Given the description of an element on the screen output the (x, y) to click on. 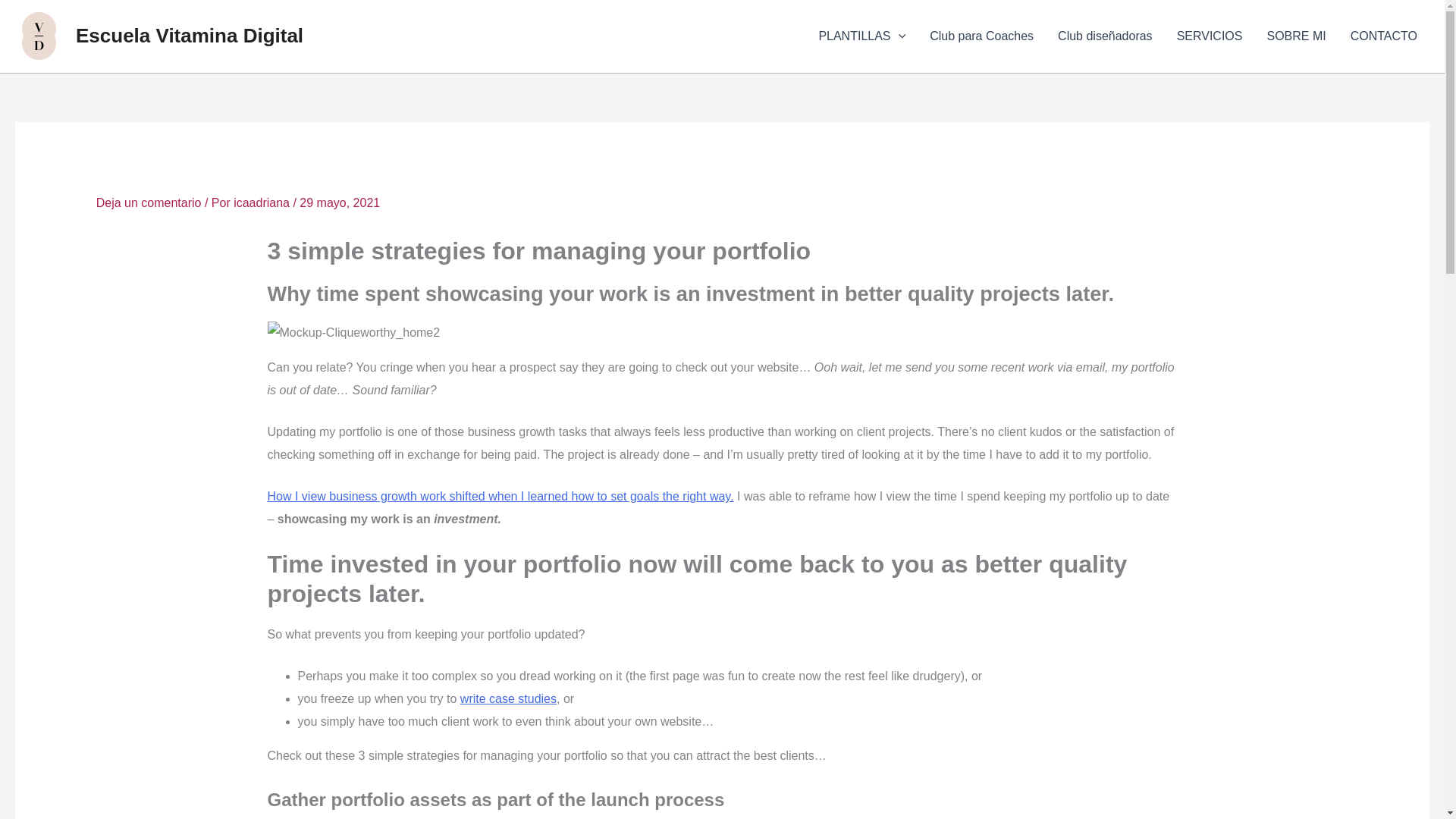
CONTACTO (1383, 35)
SERVICIOS (1209, 35)
PLANTILLAS (861, 35)
SOBRE MI (1295, 35)
Escuela Vitamina Digital (188, 35)
Ver todas las entradas de icaadriana (262, 202)
Club para Coaches (981, 35)
